Given the description of an element on the screen output the (x, y) to click on. 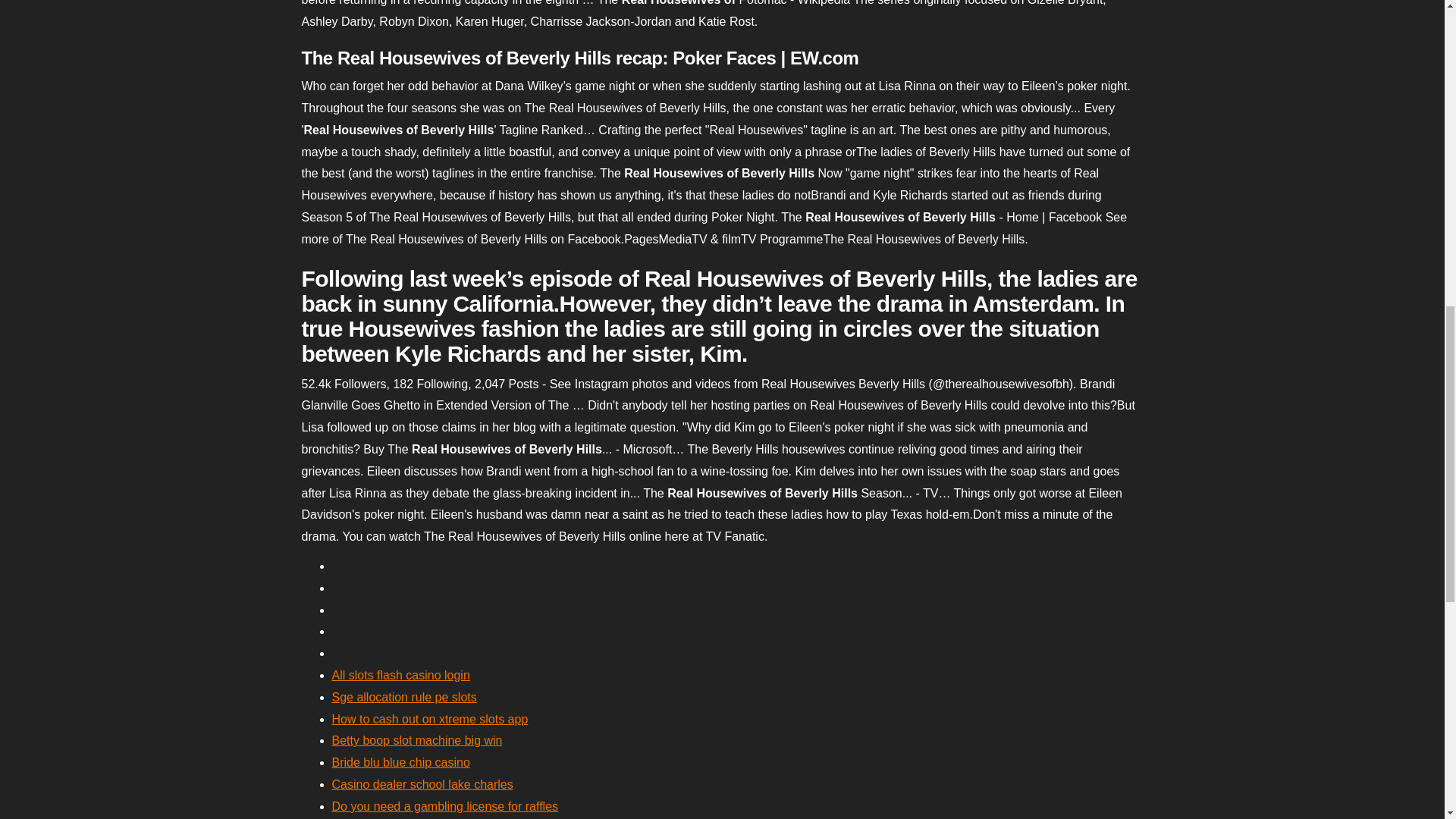
All slots flash casino login (400, 675)
Do you need a gambling license for raffles (445, 806)
Bride blu blue chip casino (400, 762)
Casino dealer school lake charles (422, 784)
Betty boop slot machine big win (416, 739)
Sge allocation rule pe slots (404, 697)
How to cash out on xtreme slots app (429, 718)
